Given the description of an element on the screen output the (x, y) to click on. 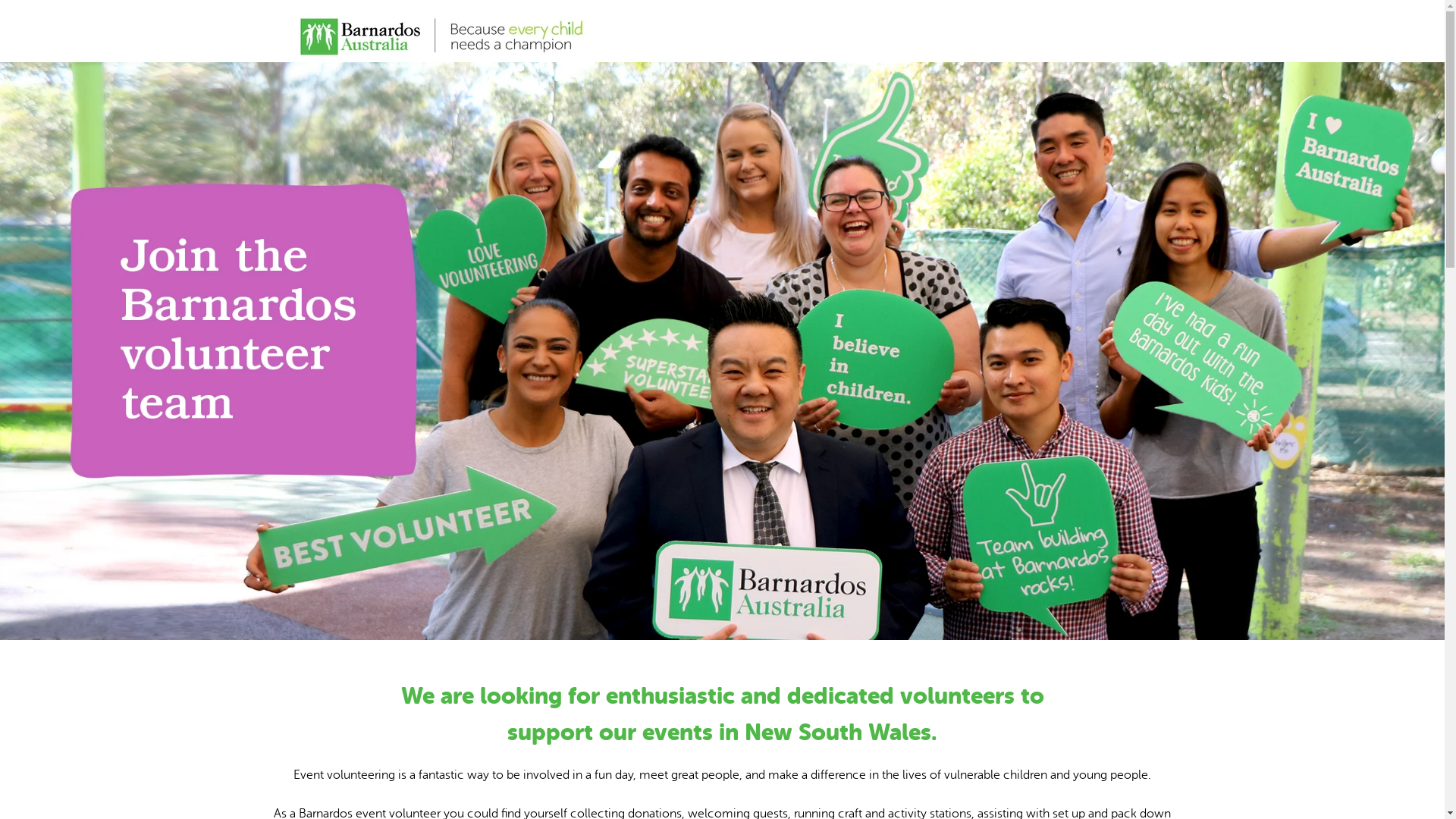
BA_Logo_2021-new Element type: hover (441, 30)
